Given the description of an element on the screen output the (x, y) to click on. 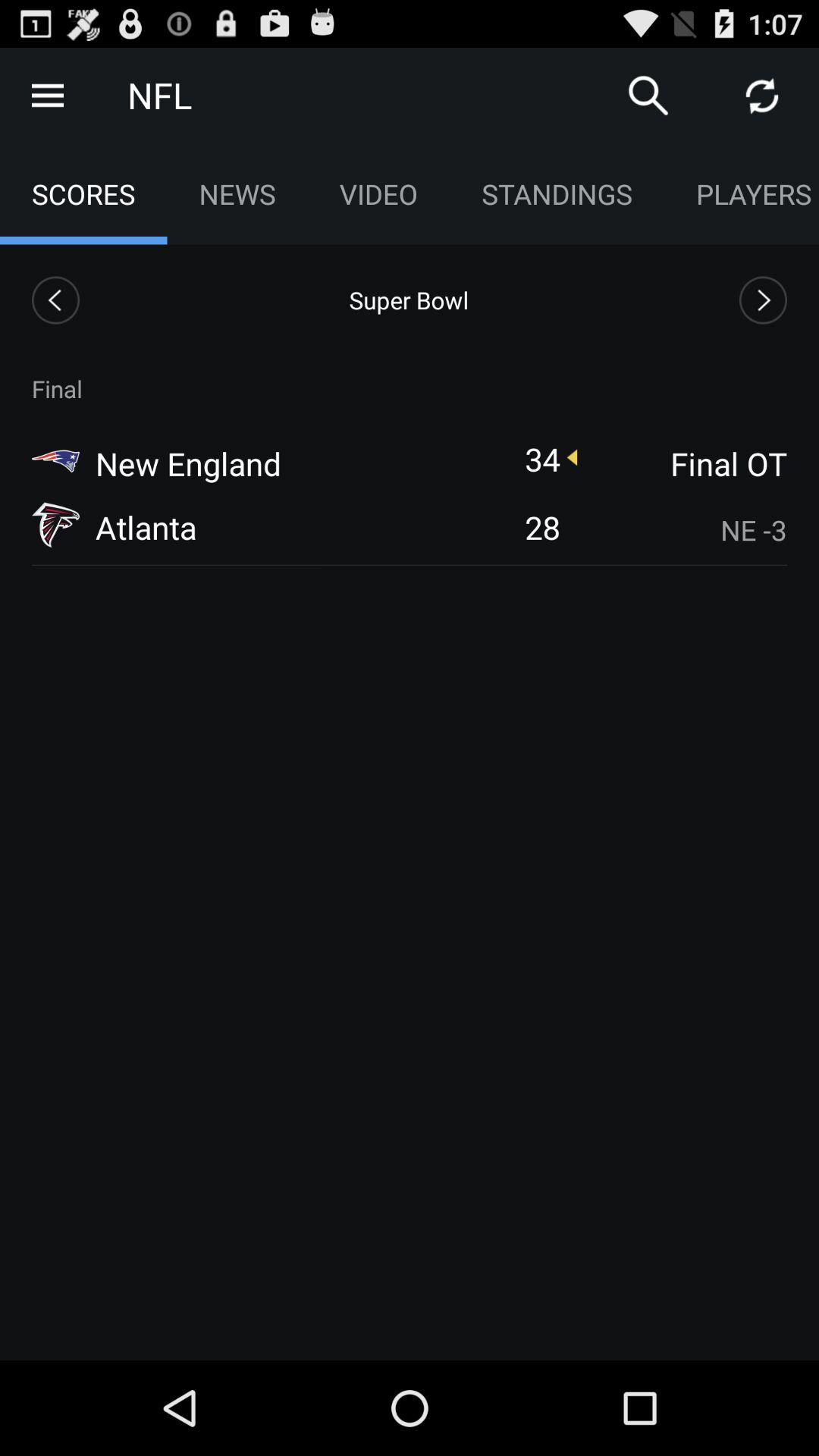
jump to standings item (556, 193)
